Given the description of an element on the screen output the (x, y) to click on. 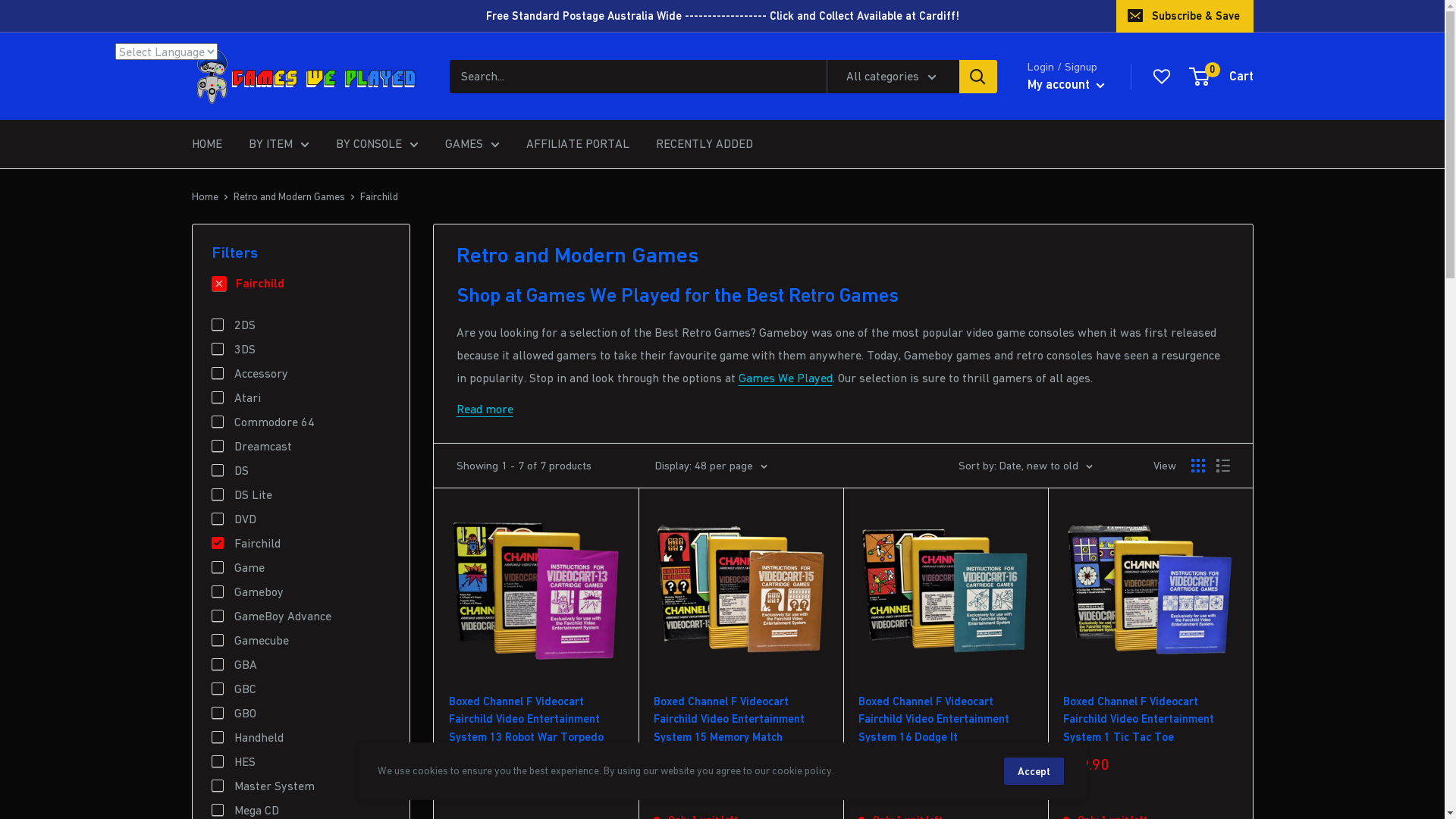
RECENTLY ADDED Element type: text (703, 143)
My account Element type: text (1065, 84)
Home Element type: text (204, 196)
Games We Played Element type: text (785, 377)
GAMES Element type: text (471, 143)
HOME Element type: text (206, 143)
0
Cart Element type: text (1221, 76)
Retro and Modern Games Element type: text (289, 196)
AFFILIATE PORTAL Element type: text (577, 143)
Display: 48 per page Element type: text (711, 465)
BY ITEM Element type: text (278, 143)
BY CONSOLE Element type: text (376, 143)
Accept Element type: text (1033, 770)
Subscribe & Save Element type: text (1184, 15)
Read more Element type: text (484, 408)
Sort by: Date, new to old Element type: text (1025, 465)
